Given the description of an element on the screen output the (x, y) to click on. 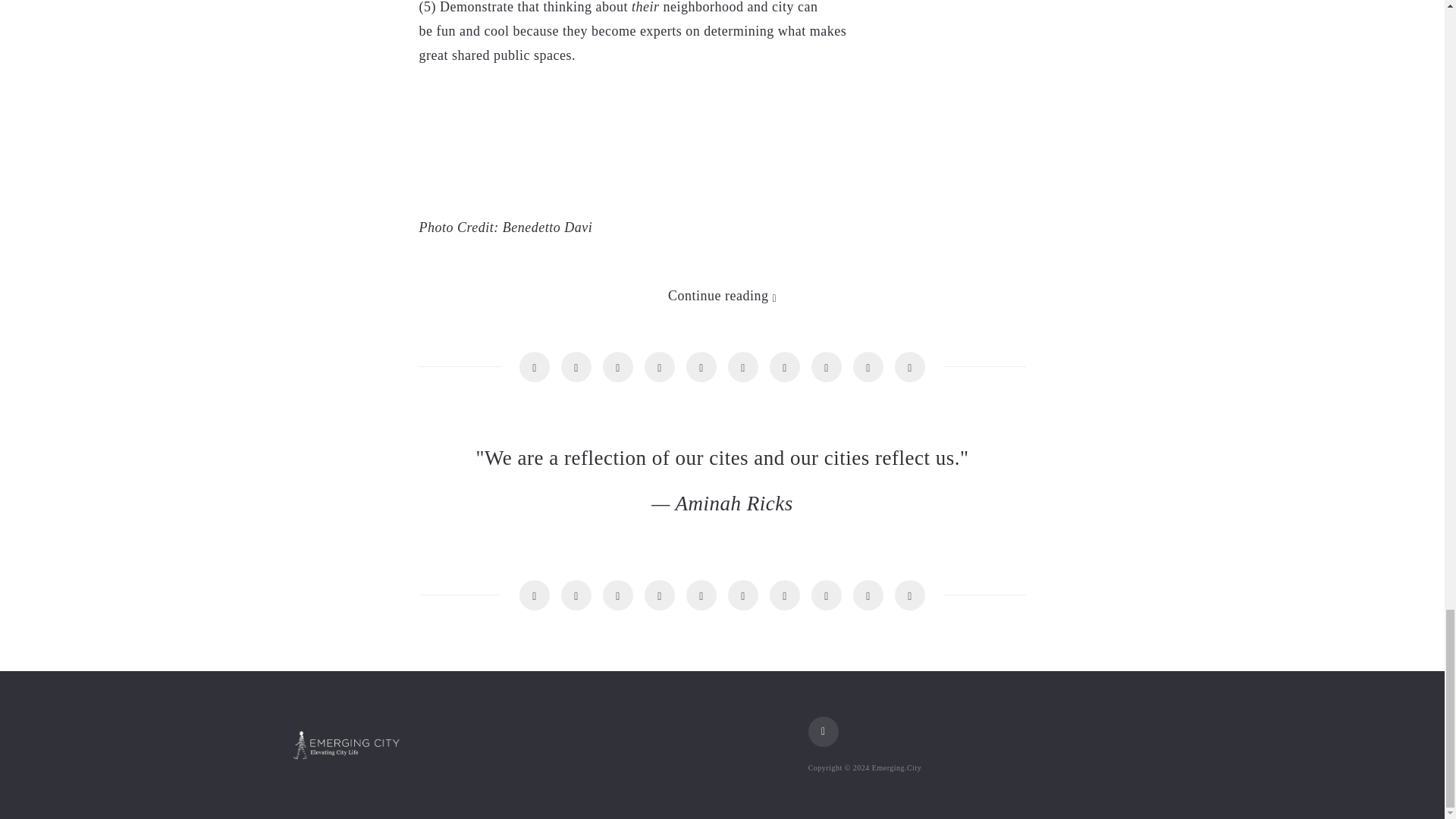
Follow us on Linkedin (823, 731)
Continue reading (722, 295)
Emerging.City (345, 745)
